Given the description of an element on the screen output the (x, y) to click on. 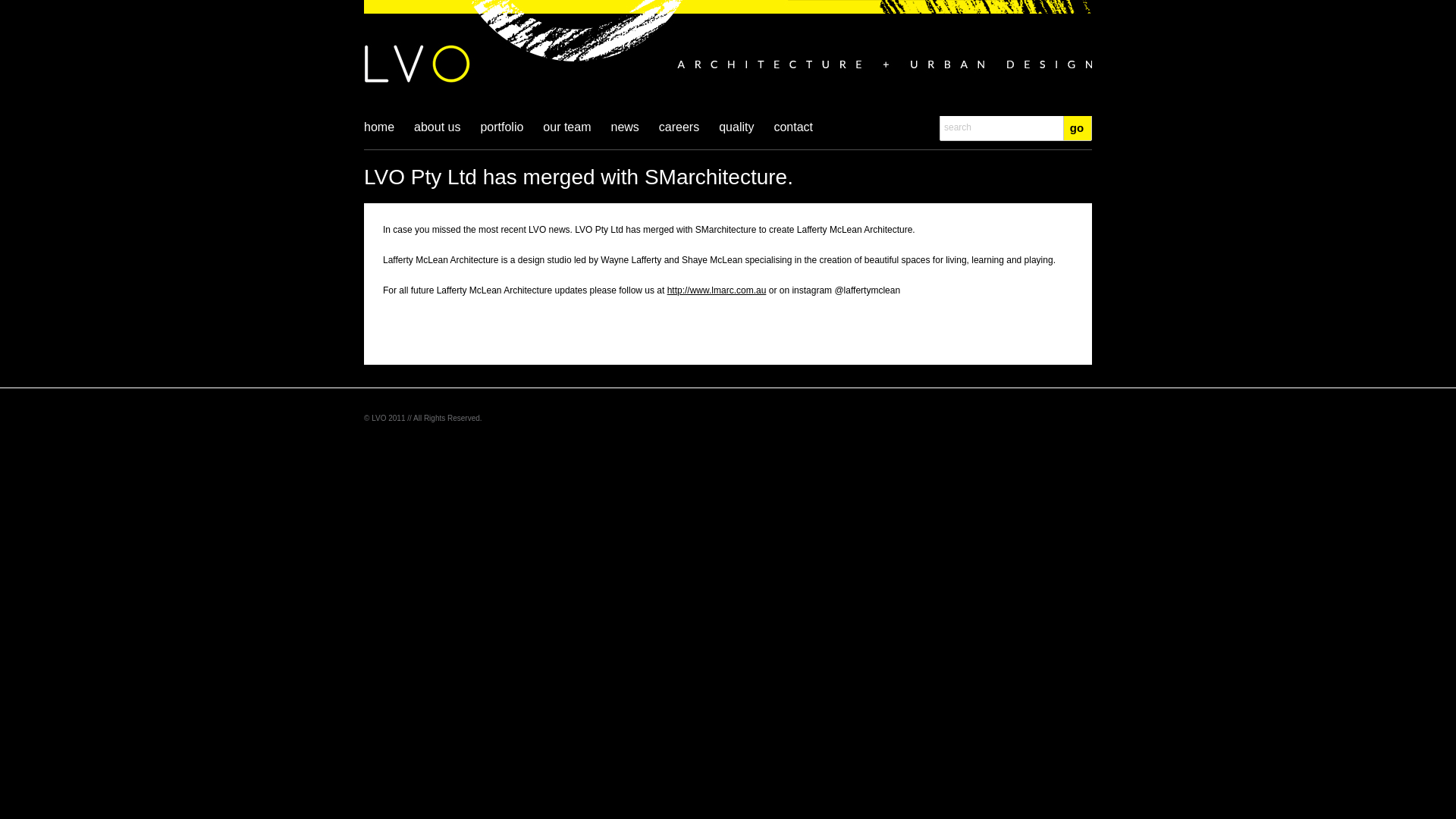
go Element type: text (1076, 127)
quality Element type: text (735, 135)
careers Element type: text (678, 135)
portfolio Element type: text (501, 135)
http://www.lmarc.com.au Element type: text (716, 290)
news Element type: text (624, 135)
our team Element type: text (566, 135)
about us Element type: text (437, 135)
contact Element type: text (792, 135)
home Element type: text (379, 135)
